Given the description of an element on the screen output the (x, y) to click on. 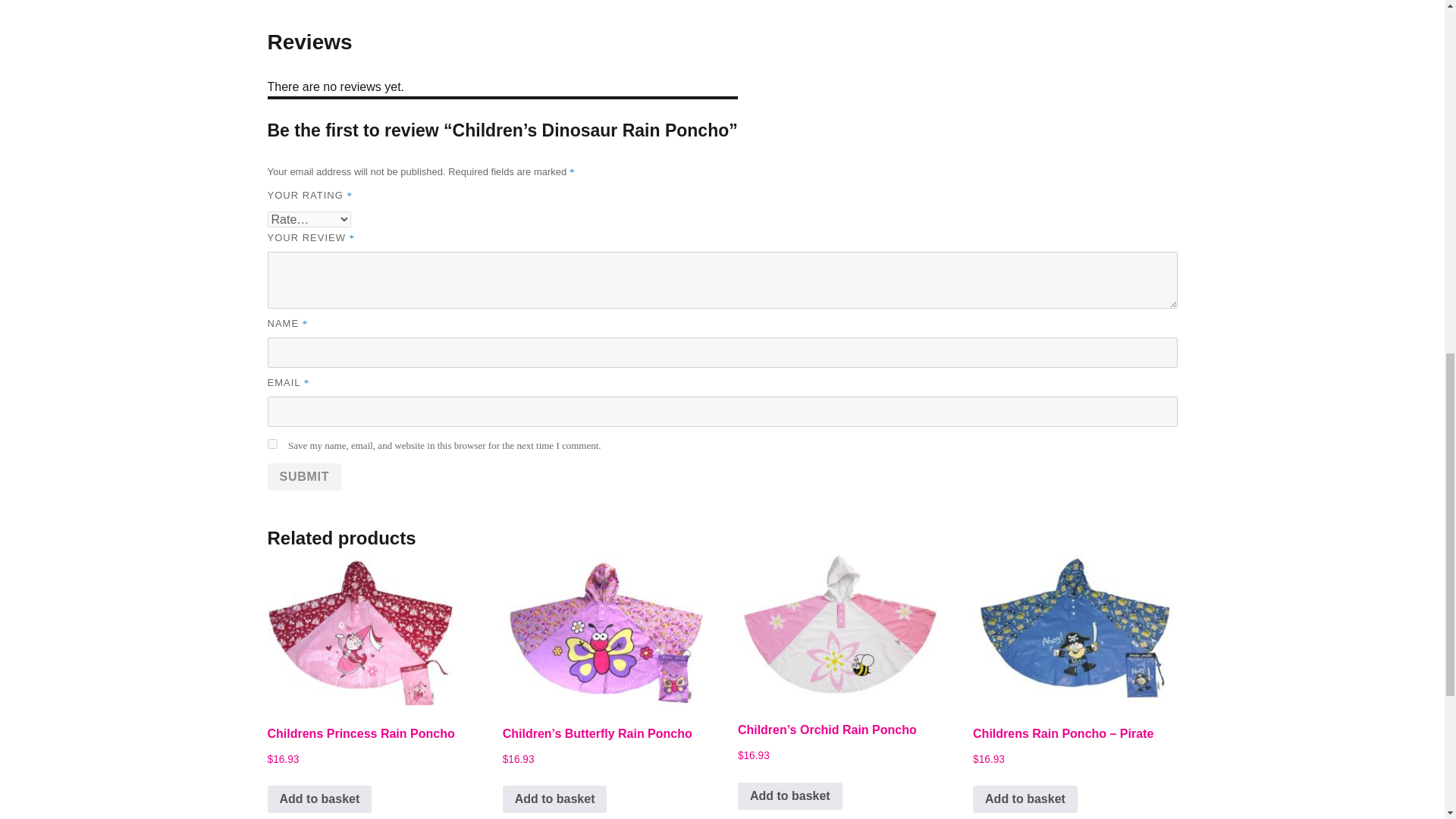
Submit (303, 476)
Add to basket (318, 799)
Add to basket (790, 795)
Submit (303, 476)
yes (271, 443)
Add to basket (1024, 799)
Add to basket (554, 799)
